Given the description of an element on the screen output the (x, y) to click on. 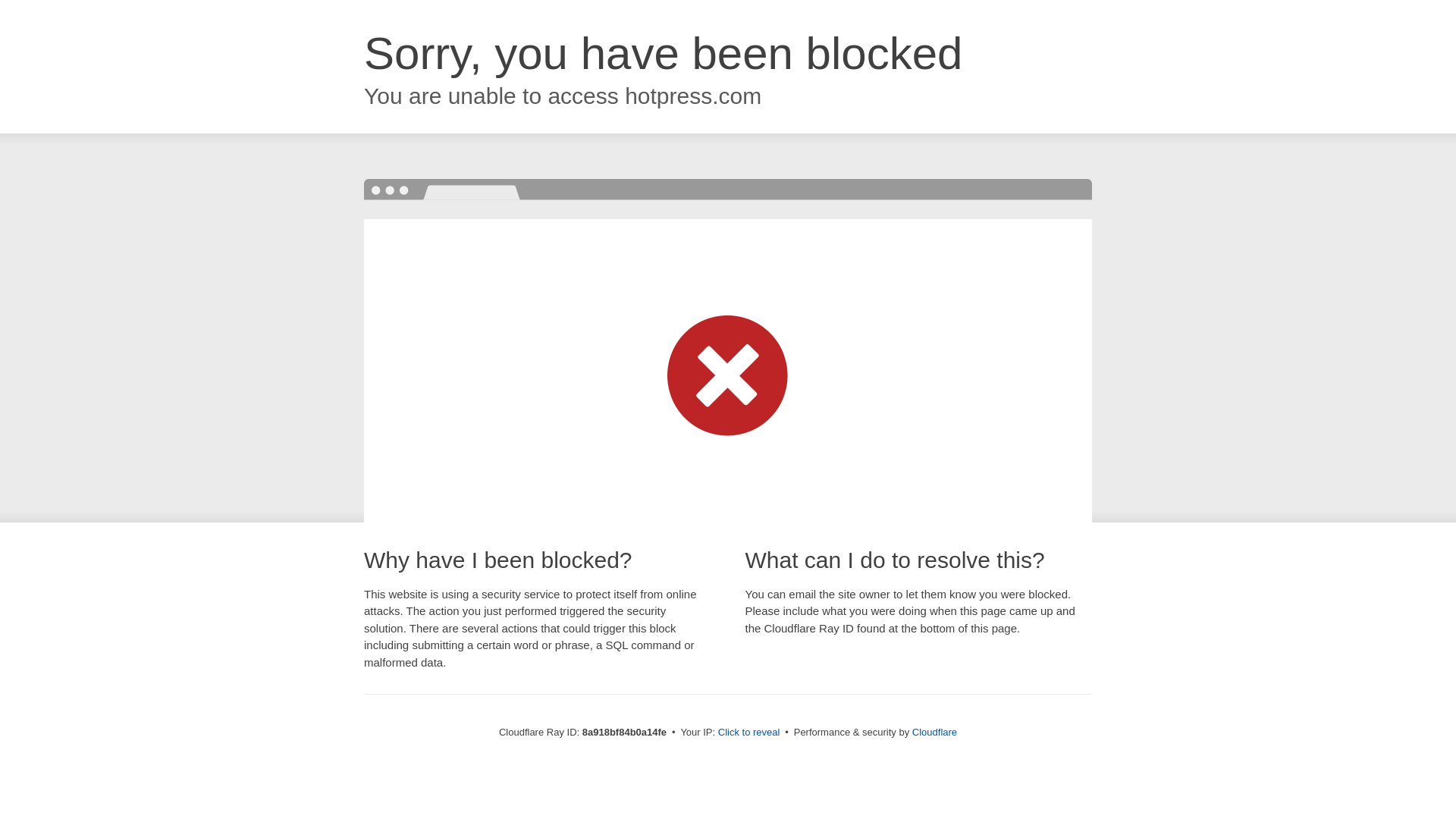
Click to reveal (748, 732)
Cloudflare (934, 731)
